Given the description of an element on the screen output the (x, y) to click on. 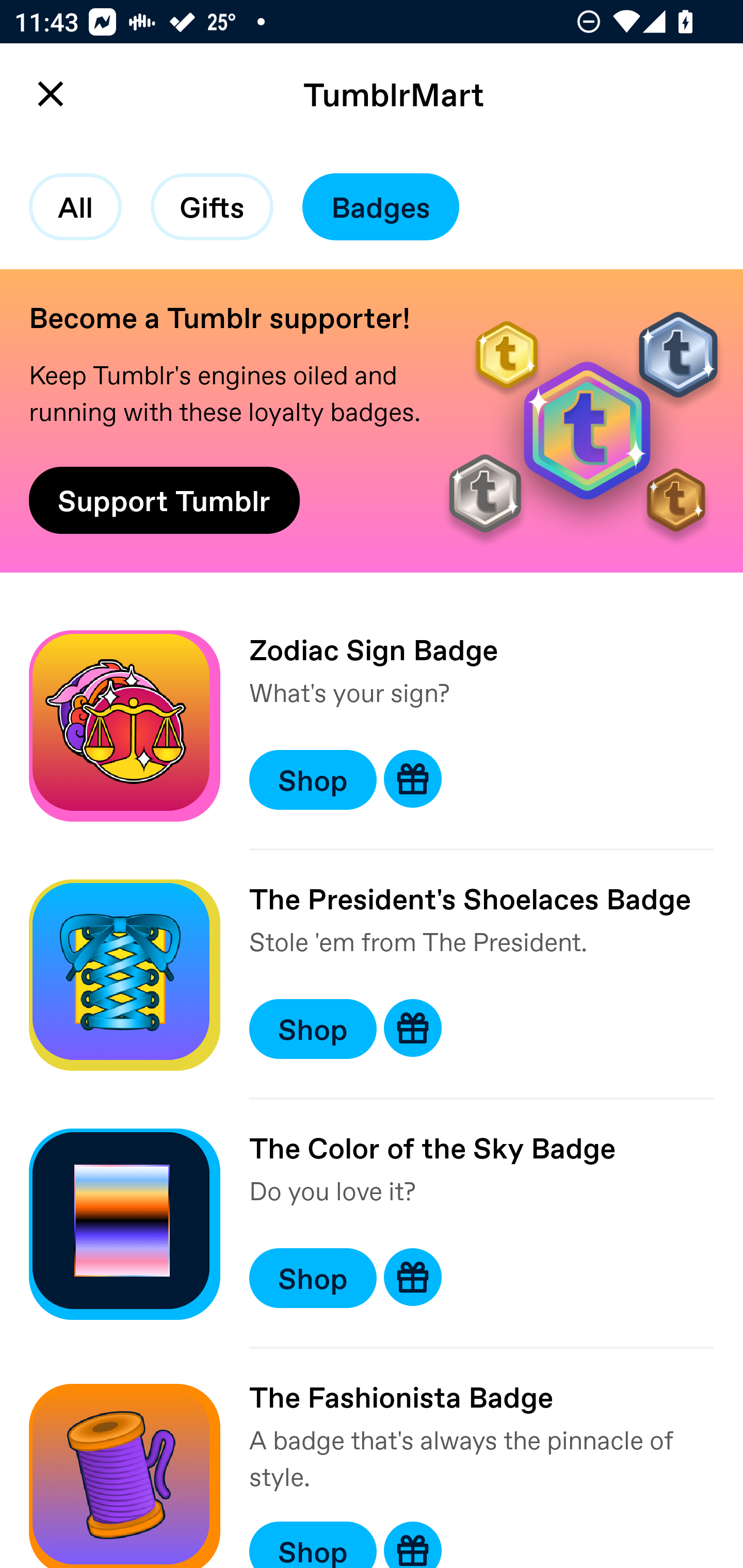
All (74, 206)
Gifts (211, 206)
Badges (380, 206)
Support Tumblr (163, 500)
Zodiac Sign Badge What's your sign? Shop (371, 725)
Shop (312, 779)
Shop (312, 1028)
The Color of the Sky Badge Do you love it? Shop (371, 1223)
Shop (312, 1277)
Shop (312, 1544)
